Given the description of an element on the screen output the (x, y) to click on. 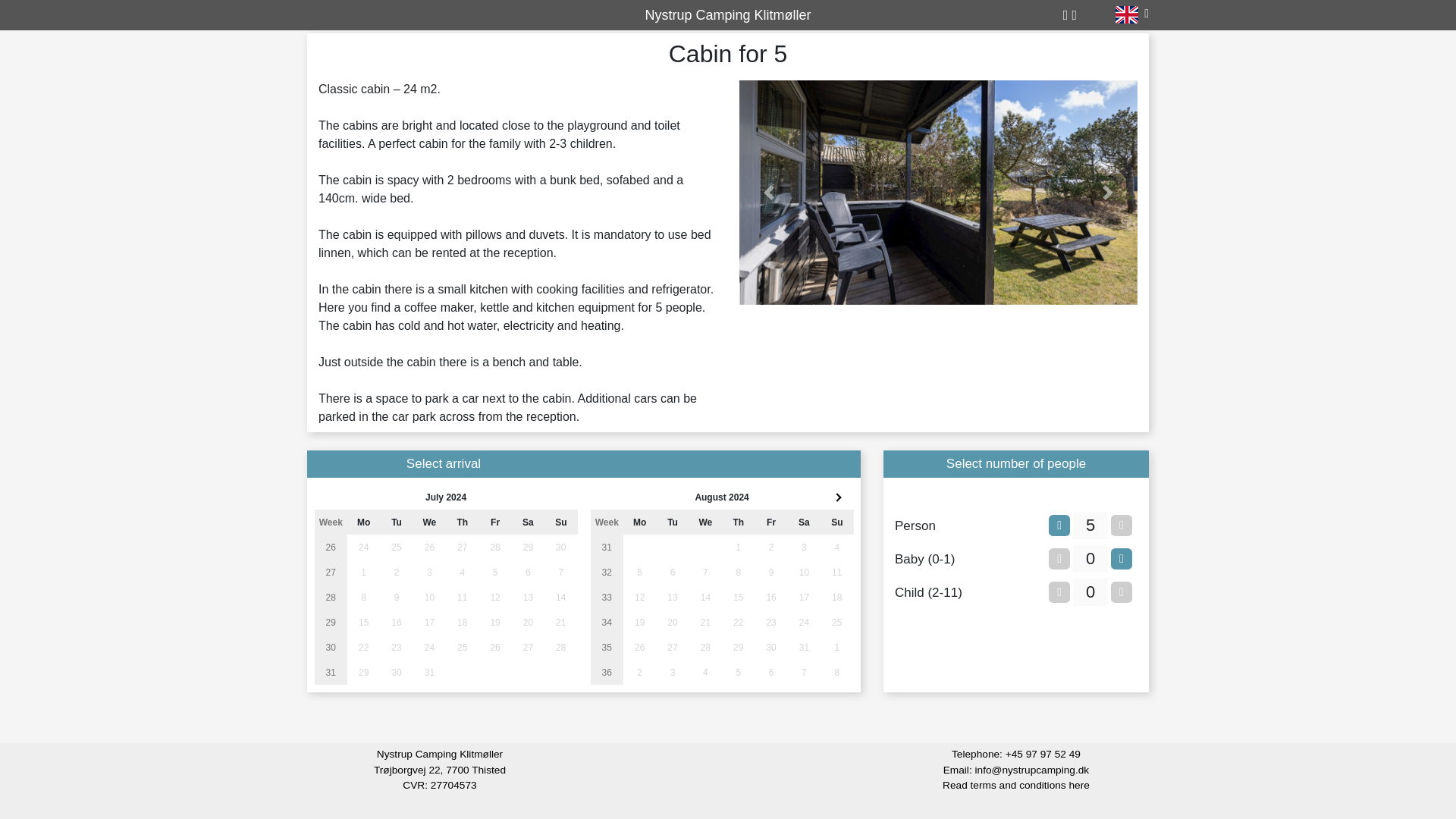
0 (1090, 592)
5 (1090, 524)
Read terms and conditions here (1015, 785)
0 (1090, 558)
